Given the description of an element on the screen output the (x, y) to click on. 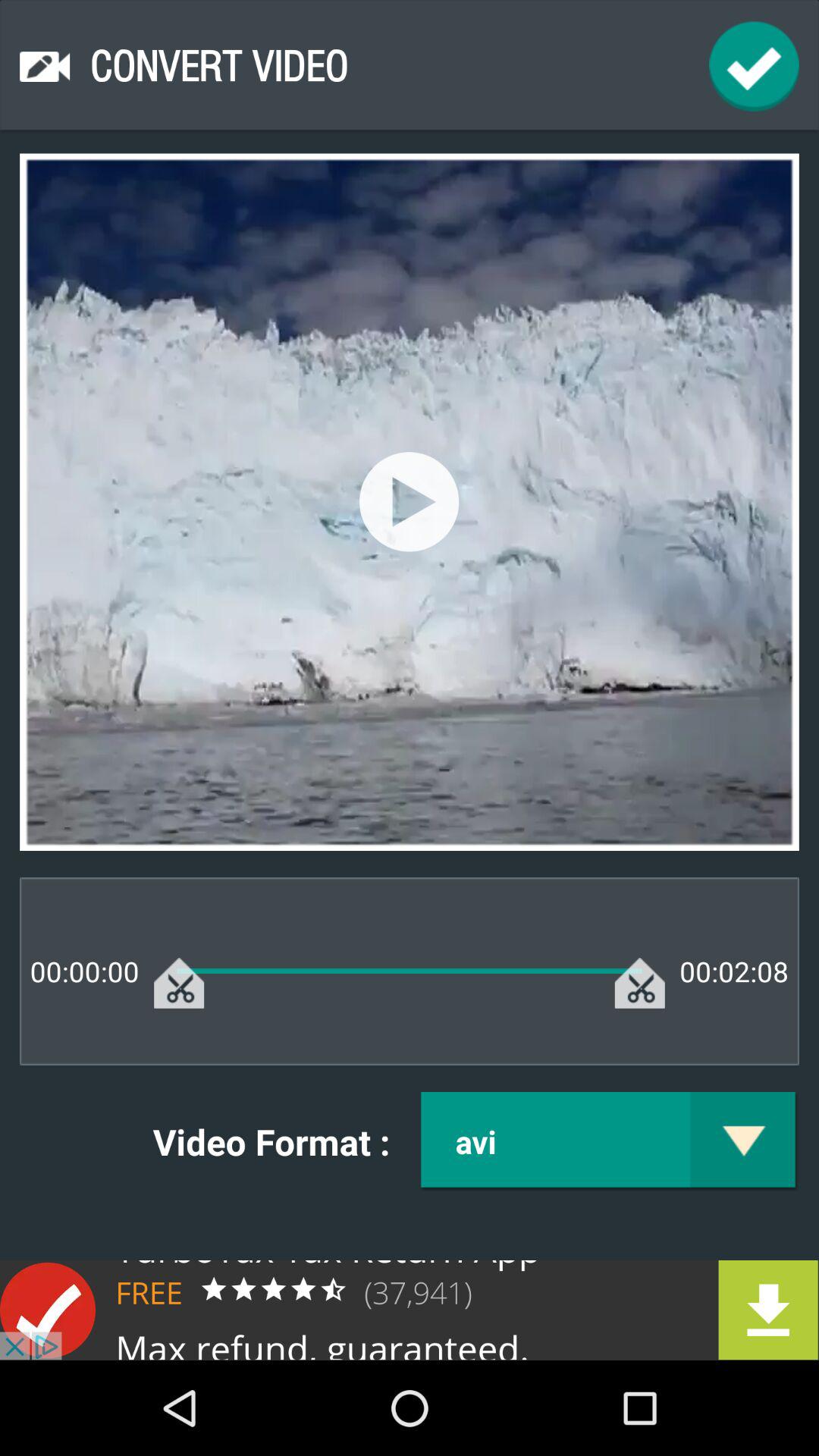
play a video (408, 501)
